Given the description of an element on the screen output the (x, y) to click on. 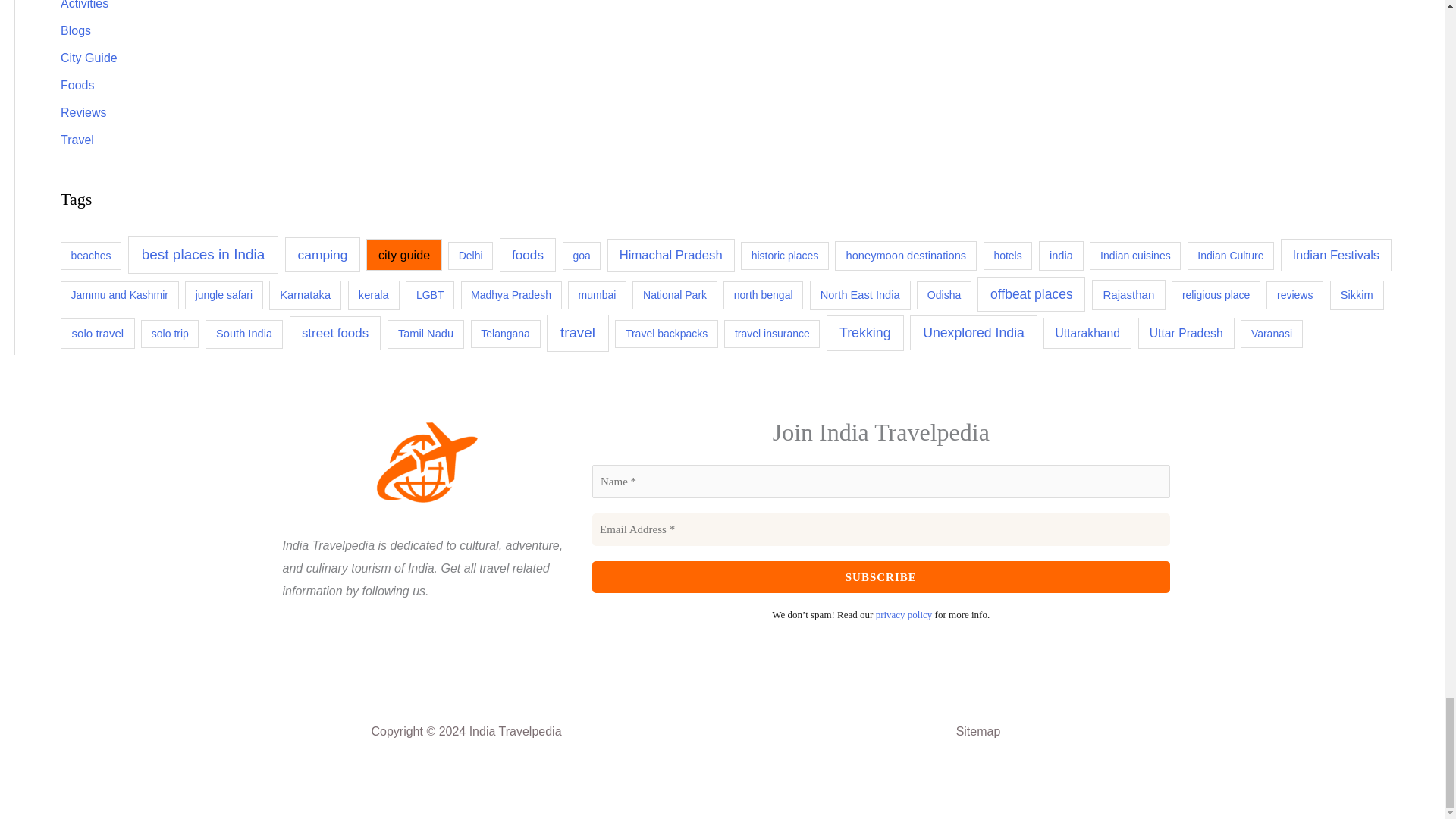
Email Address (881, 529)
Travel (77, 139)
Blogs (75, 30)
Activities (84, 4)
Name (881, 480)
SUBSCRIBE (881, 576)
Reviews (83, 112)
City Guide (89, 57)
Foods (77, 84)
